Given the description of an element on the screen output the (x, y) to click on. 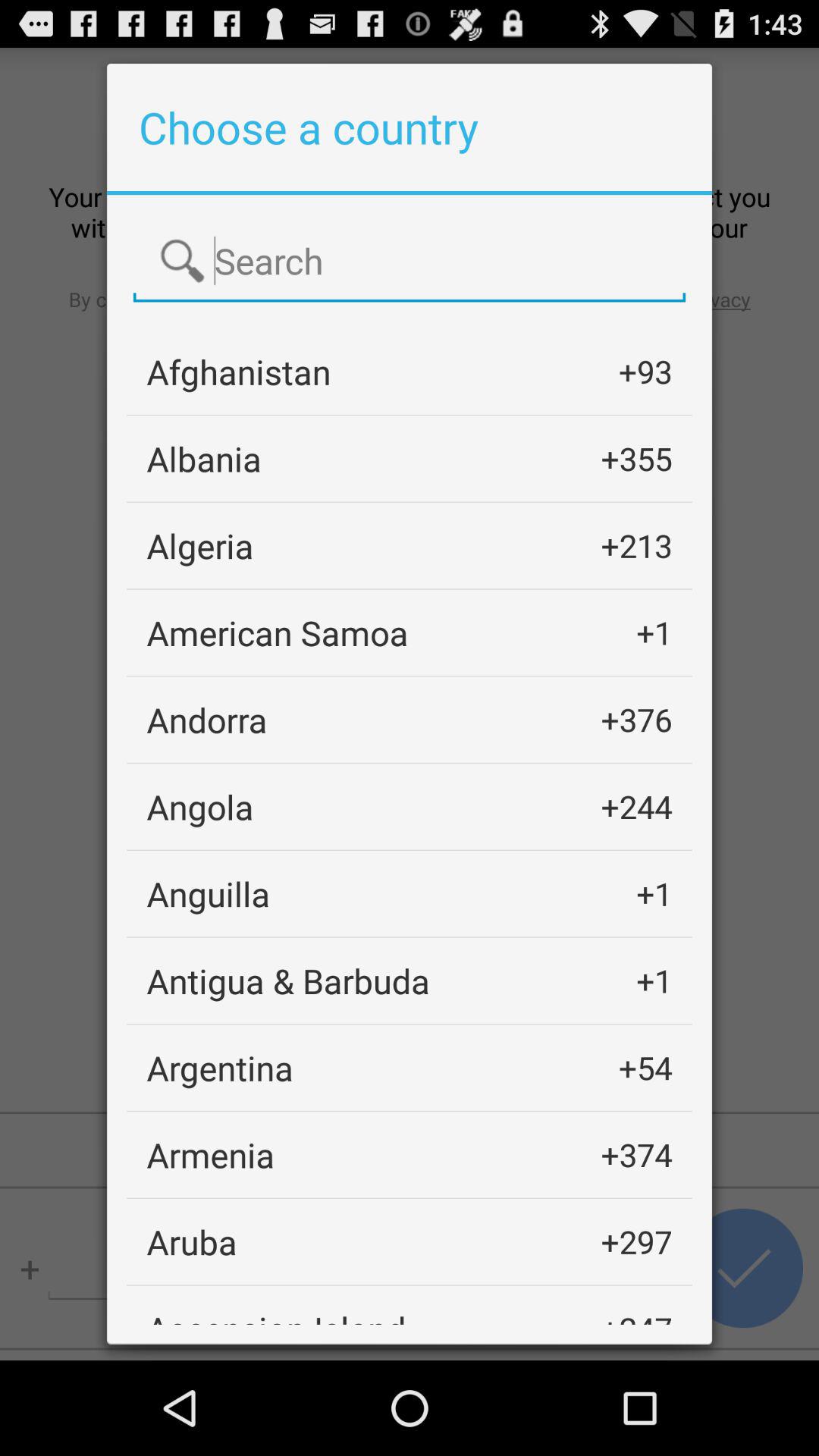
turn off the icon to the left of the +213 (199, 545)
